Given the description of an element on the screen output the (x, y) to click on. 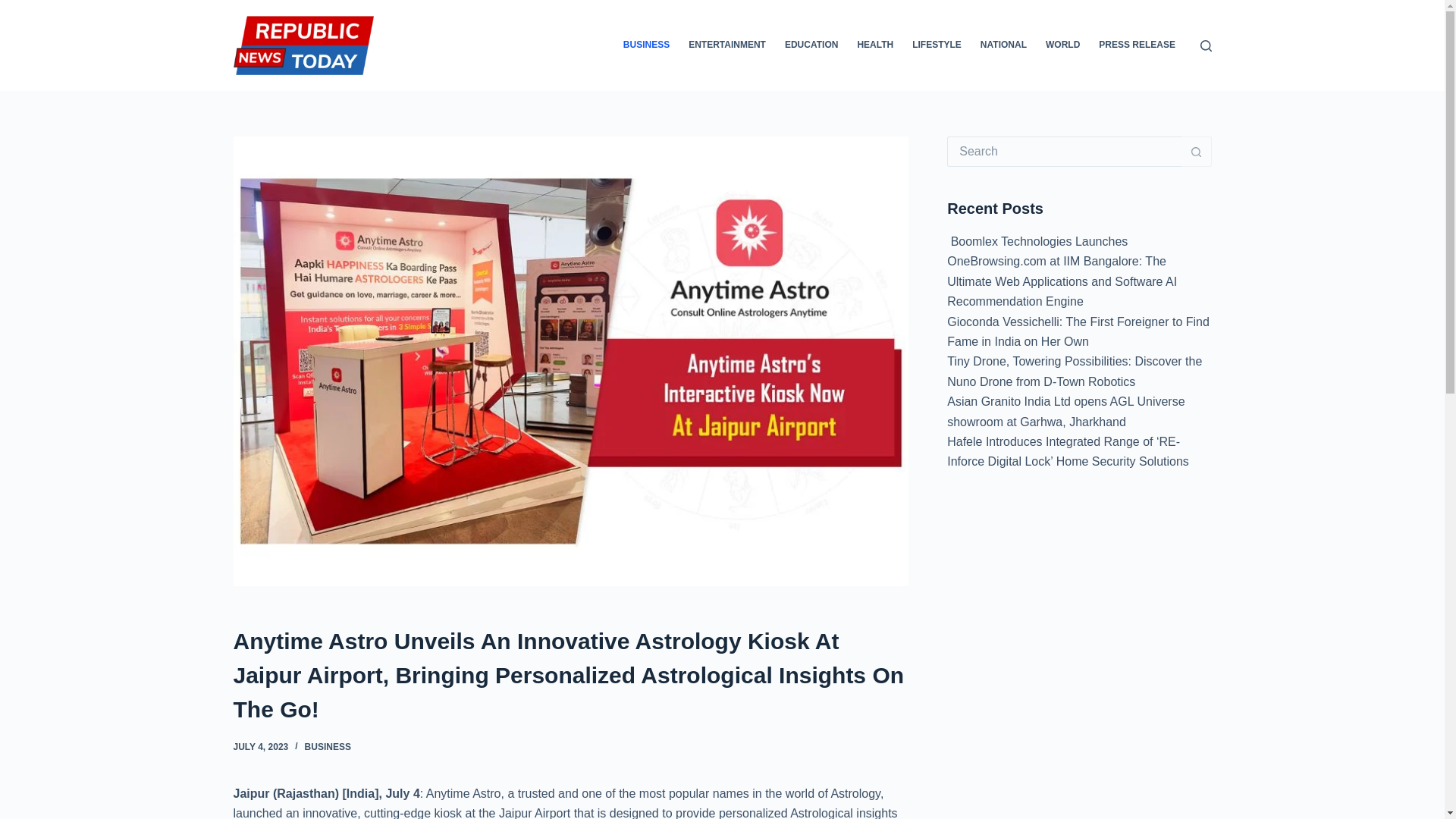
ENTERTAINMENT (727, 45)
PRESS RELEASE (1137, 45)
BUSINESS (327, 747)
EDUCATION (810, 45)
NATIONAL (1003, 45)
WORLD (1062, 45)
Skip to content (15, 7)
HEALTH (874, 45)
Search for... (1063, 151)
BUSINESS (645, 45)
